Given the description of an element on the screen output the (x, y) to click on. 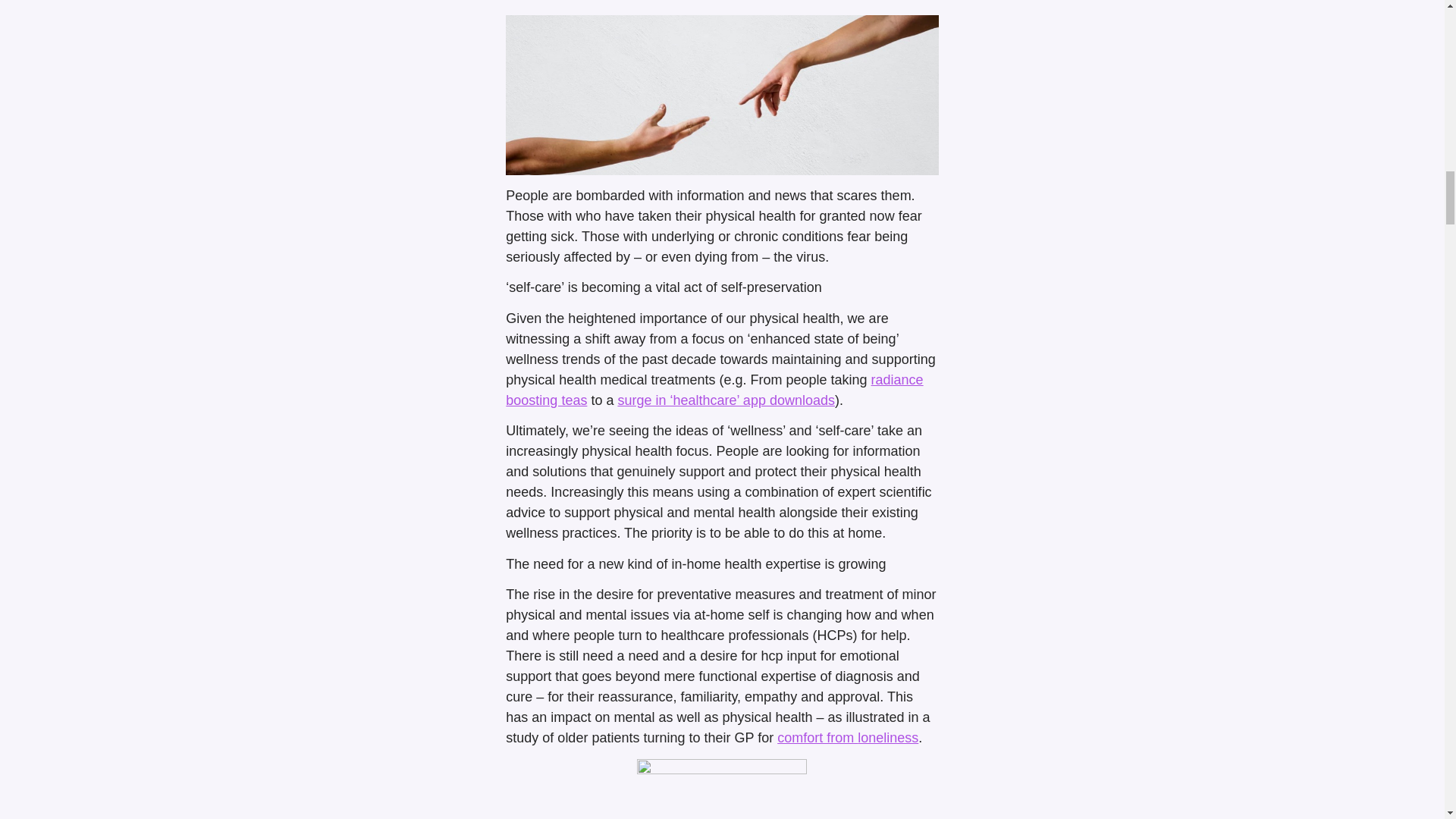
radiance boosting teas (714, 389)
comfort from (817, 737)
loneliness (887, 737)
